Given the description of an element on the screen output the (x, y) to click on. 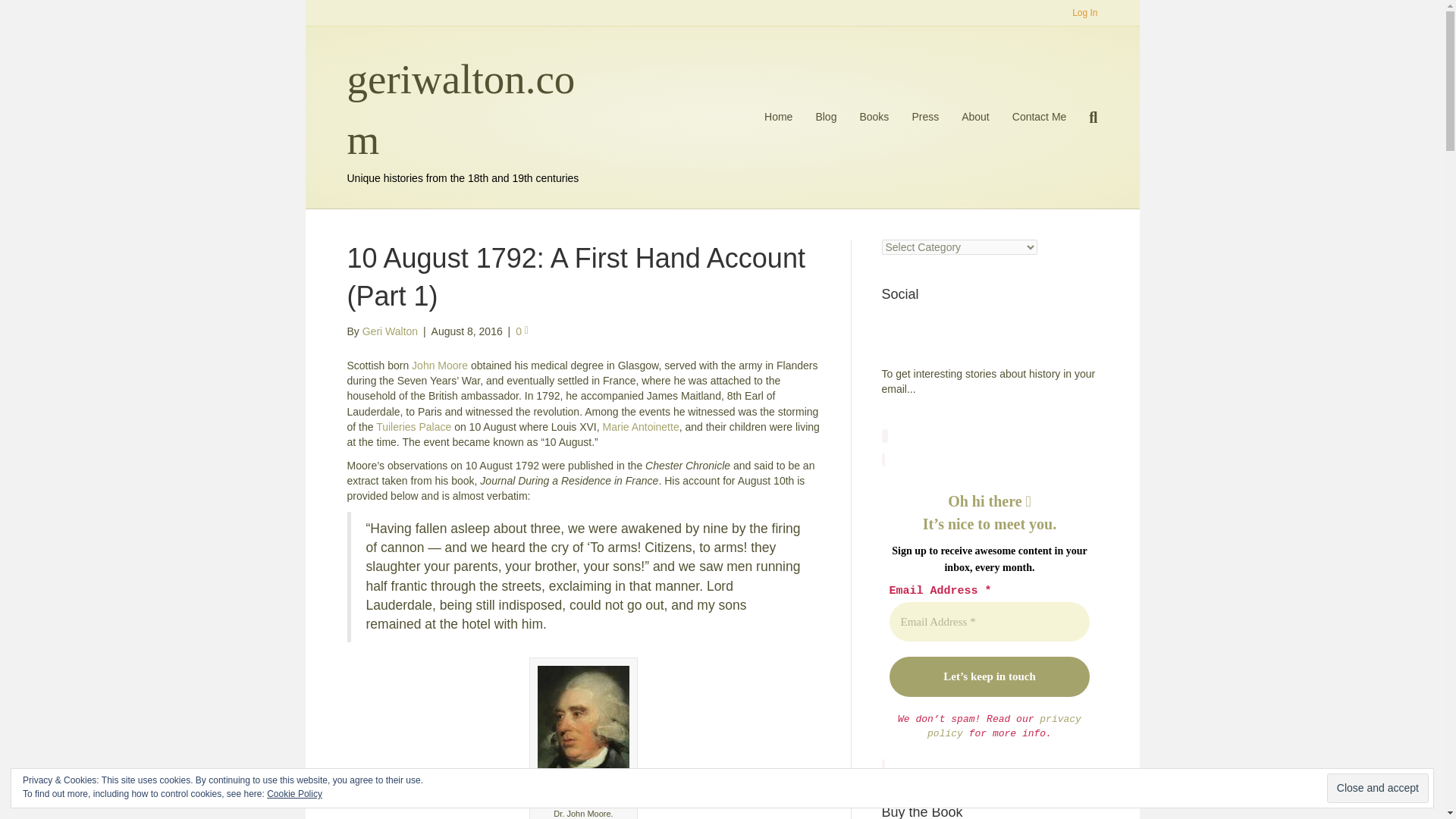
Home (777, 117)
About (975, 117)
geriwalton.com (466, 109)
Email Address (988, 621)
John Moore (439, 365)
Geri Walton (389, 331)
Contact Me (1039, 117)
Books (873, 117)
Log In (1084, 13)
Tuileries Palace (413, 426)
0 (521, 331)
Marie Antoinette (640, 426)
Blog (825, 117)
Close and accept (1377, 788)
Press (924, 117)
